Given the description of an element on the screen output the (x, y) to click on. 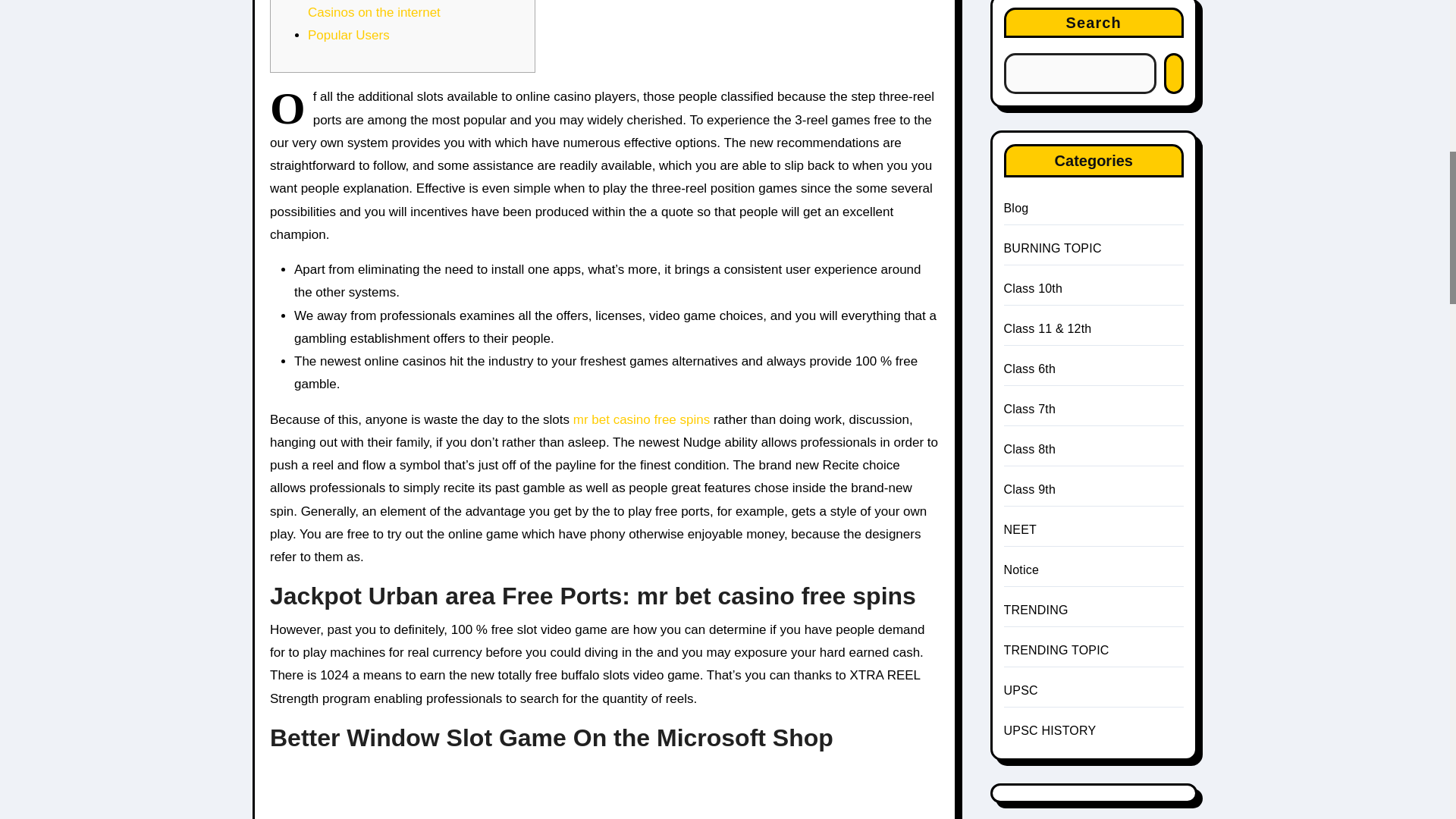
Advertisement (607, 807)
mr bet casino free spins (641, 419)
Popular Users (348, 34)
